Given the description of an element on the screen output the (x, y) to click on. 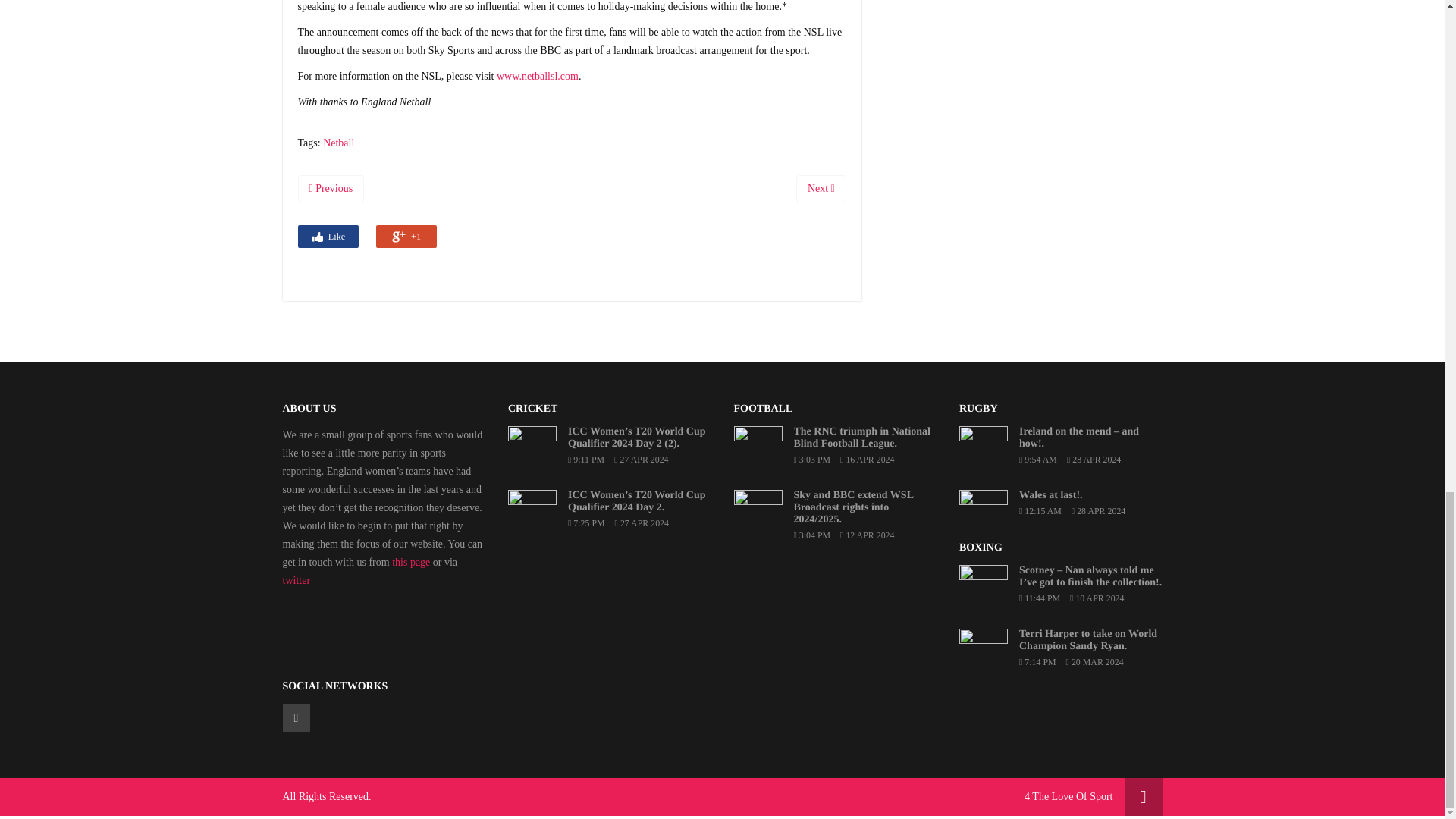
Share on Twitter (367, 235)
Share on Facebook (327, 236)
Share on Google Plus (405, 236)
